Given the description of an element on the screen output the (x, y) to click on. 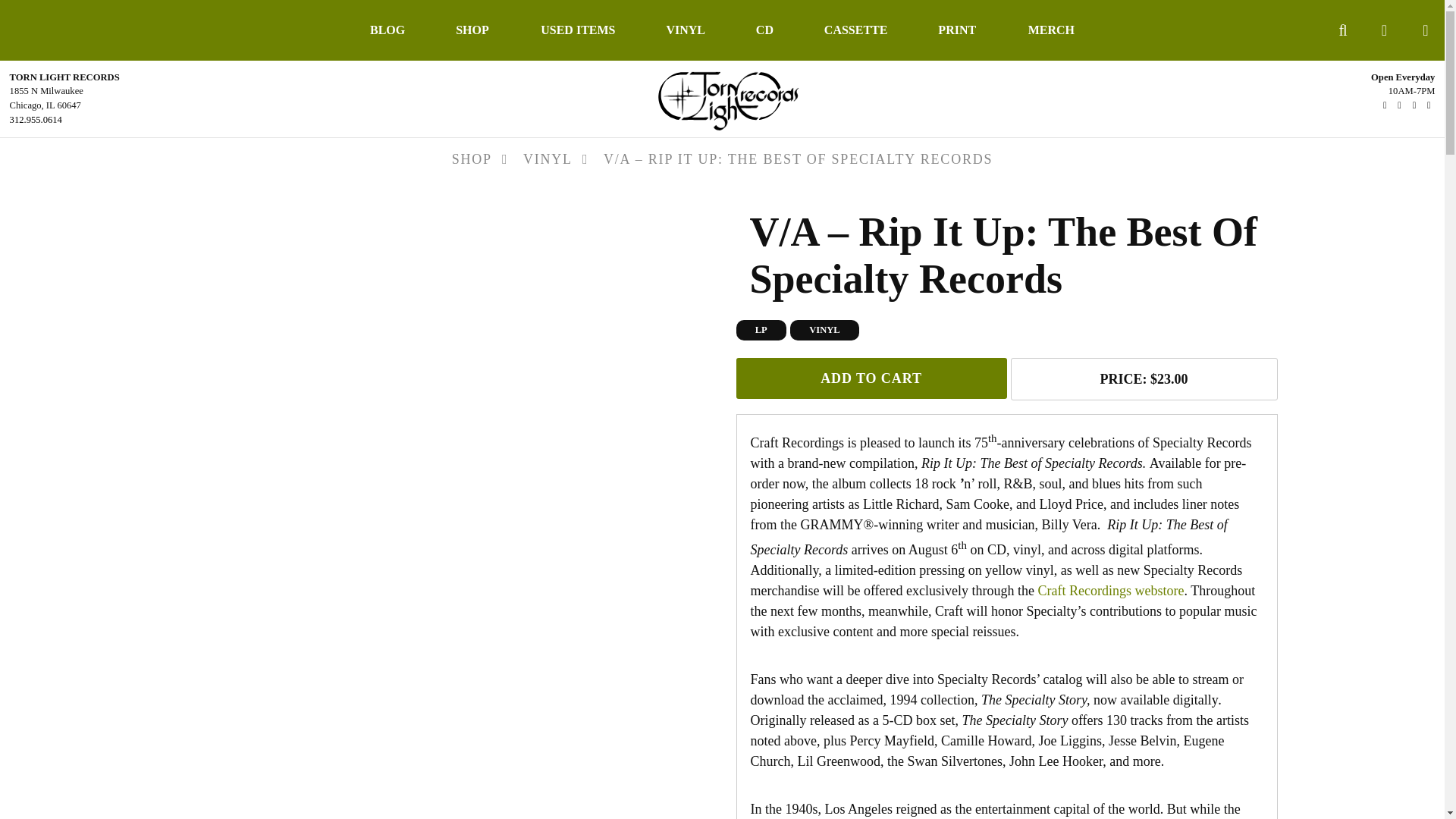
CASSETTE (855, 30)
VINYL (685, 30)
Home (722, 96)
CD (764, 30)
SHOP (471, 30)
MERCH (1051, 30)
BLOG (387, 30)
PRINT (957, 30)
USED ITEMS (577, 30)
